Given the description of an element on the screen output the (x, y) to click on. 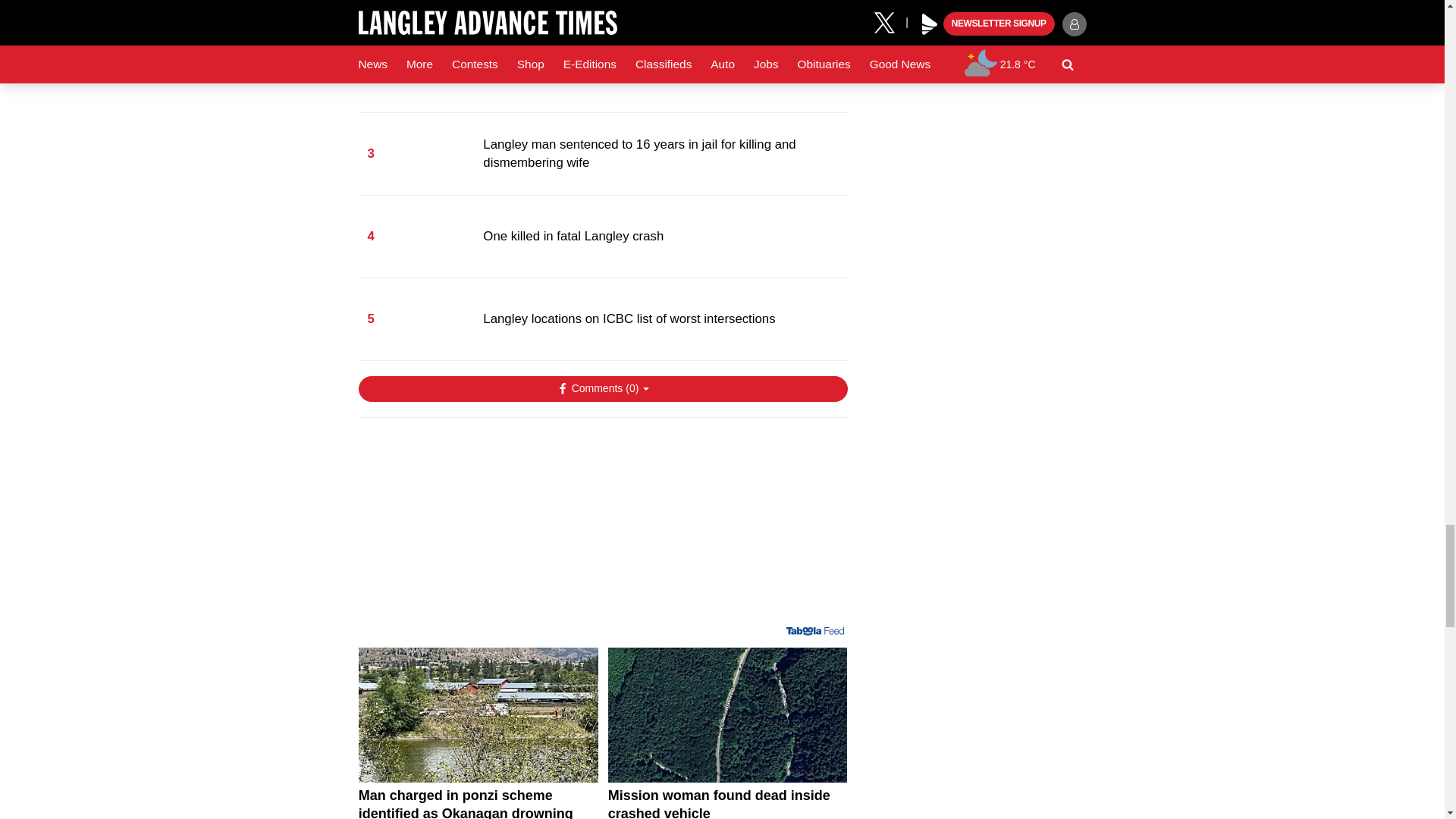
Show Comments (602, 388)
3rd party ad content (602, 527)
